Given the description of an element on the screen output the (x, y) to click on. 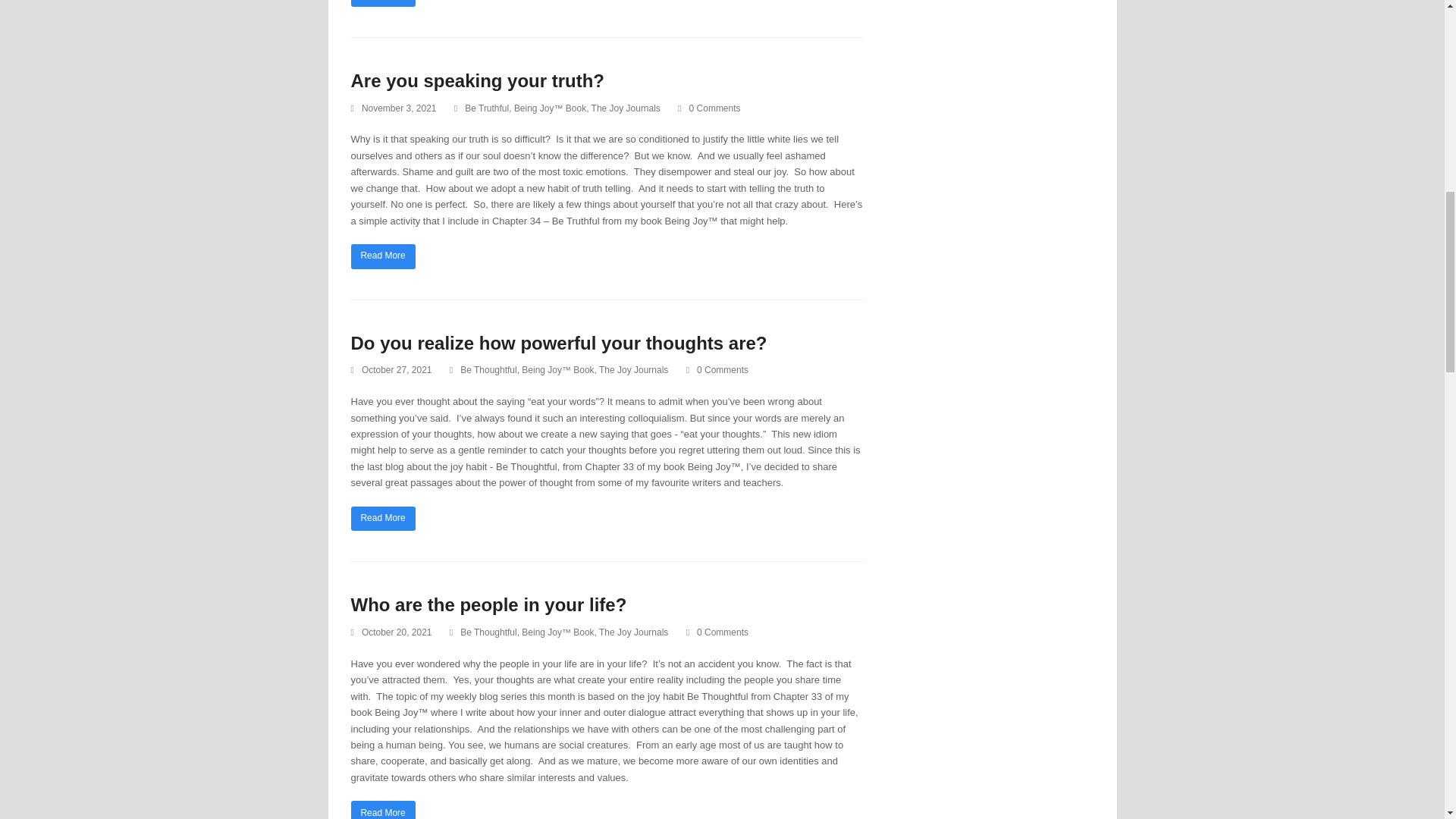
Read More (382, 3)
Do you realize how powerful your thoughts are? (558, 342)
Be Thoughtful (488, 369)
0 Comments (714, 108)
Read More (382, 518)
0 Comments (708, 109)
The Joy Journals (626, 108)
0 Comments (716, 370)
0 Comments (722, 369)
Read More (382, 256)
Who are the people in your life? (488, 604)
Be Truthful (486, 108)
The Joy Journals (633, 369)
Are you speaking your truth? (477, 80)
0 Comments (716, 632)
